Given the description of an element on the screen output the (x, y) to click on. 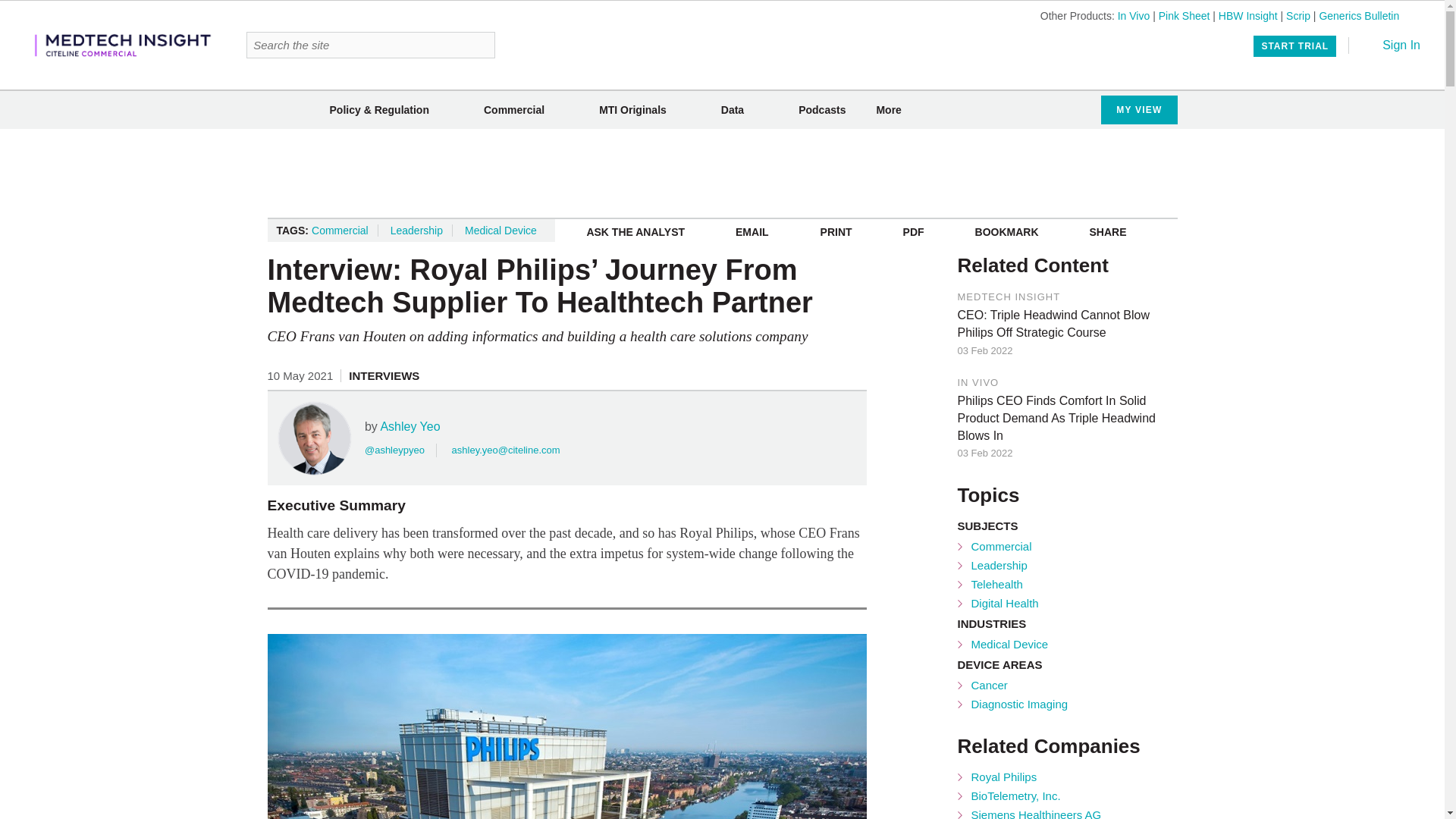
Generics Bulletin (1359, 15)
In Vivo (1134, 15)
Commercial (513, 110)
START TRIAL (1294, 46)
3rd party ad content (721, 173)
Scrip (1297, 15)
Sign In (1391, 44)
HBW Insight (1248, 15)
Pink Sheet (1183, 15)
